Given the description of an element on the screen output the (x, y) to click on. 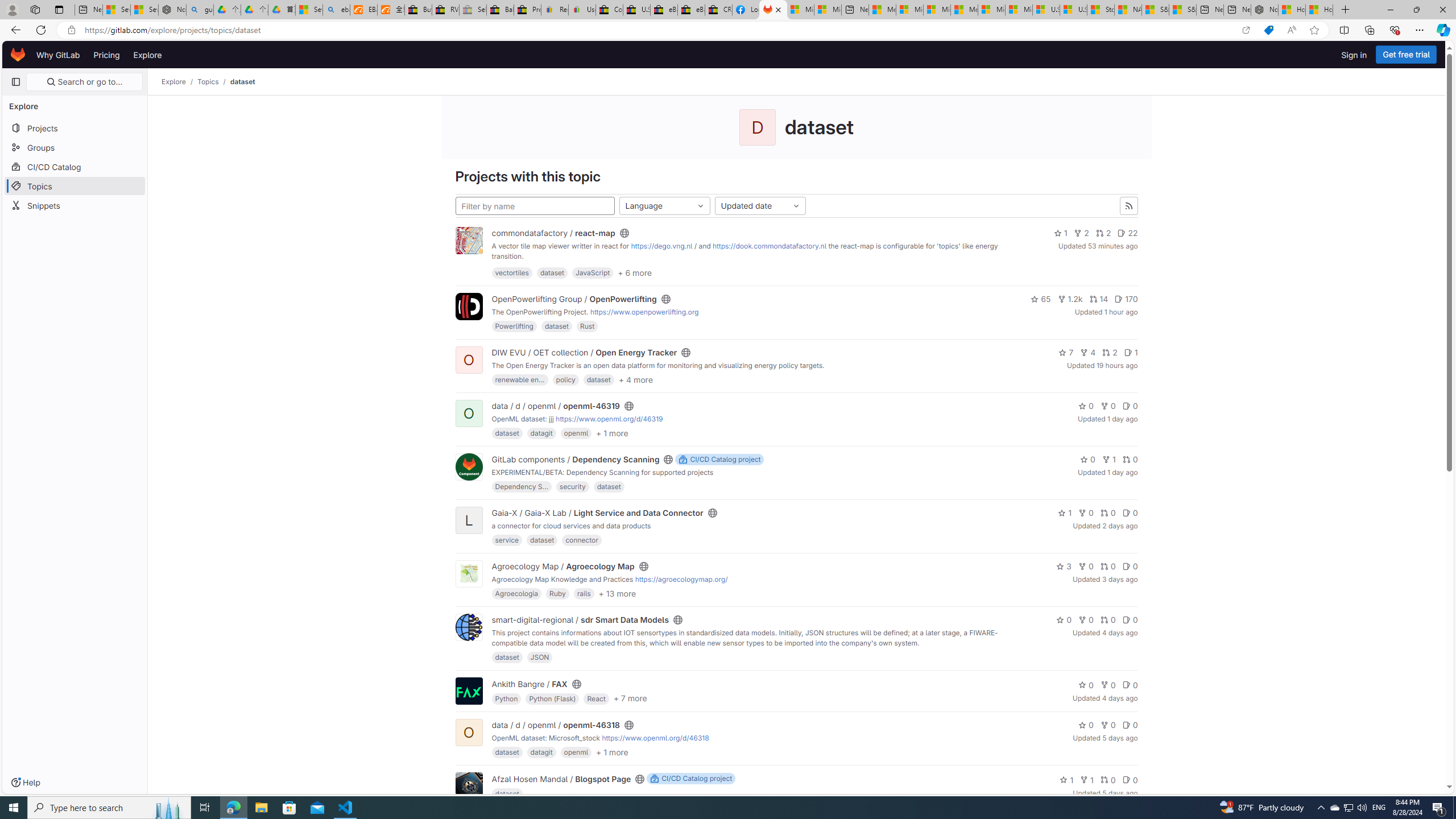
Split screen (1344, 29)
Rust (587, 325)
22 (1128, 232)
Agroecologia (516, 592)
Read aloud this page (Ctrl+Shift+U) (1291, 29)
1.2k (1070, 299)
Explore/ (179, 81)
Afzal Hosen Mandal / Blogspot Page (561, 778)
Pricing (106, 54)
Back (13, 29)
service (507, 539)
Workspaces (34, 9)
